Given the description of an element on the screen output the (x, y) to click on. 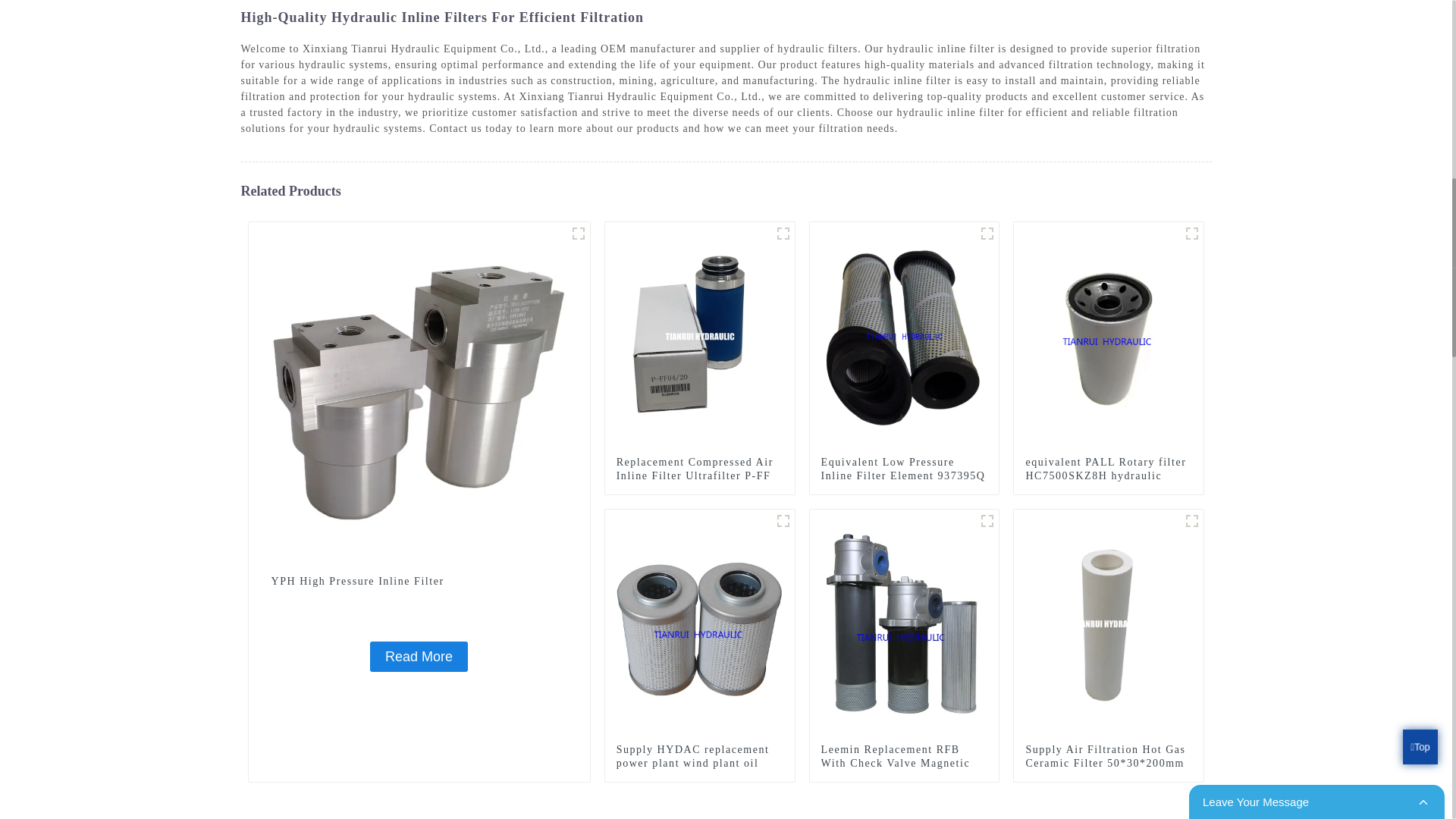
YPH High Pressure Inline Filter (418, 391)
4 (1192, 232)
1 (782, 520)
Read More (418, 656)
YPH (578, 232)
YPH High Pressure Inline Filter (418, 581)
YPH High Pressure Inline Filter (418, 656)
